Given the description of an element on the screen output the (x, y) to click on. 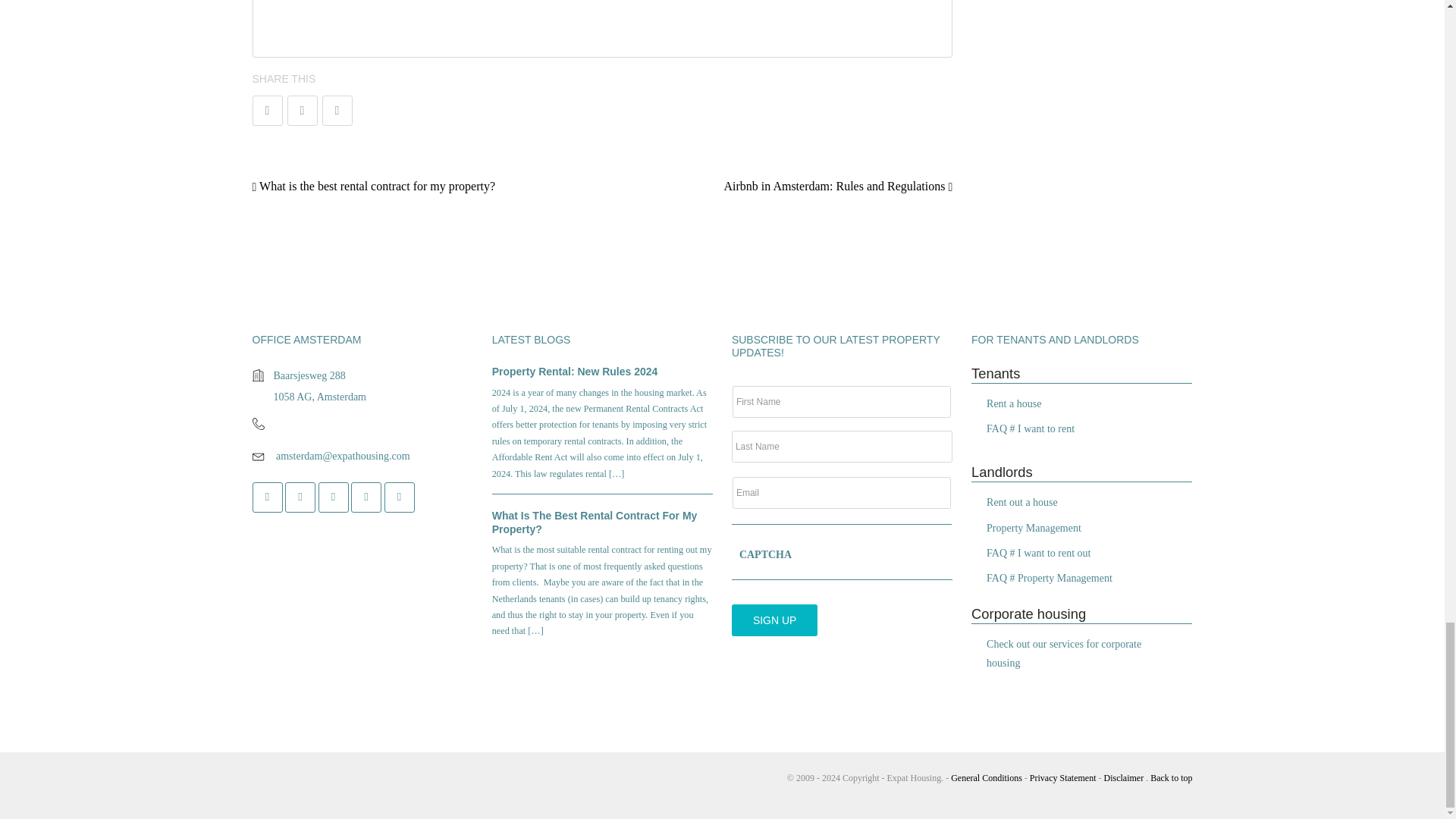
What is the best rental contract for my property? (373, 185)
Airbnb in Amsterdam: Rules and Regulations (837, 185)
SIGN UP (775, 620)
